Given the description of an element on the screen output the (x, y) to click on. 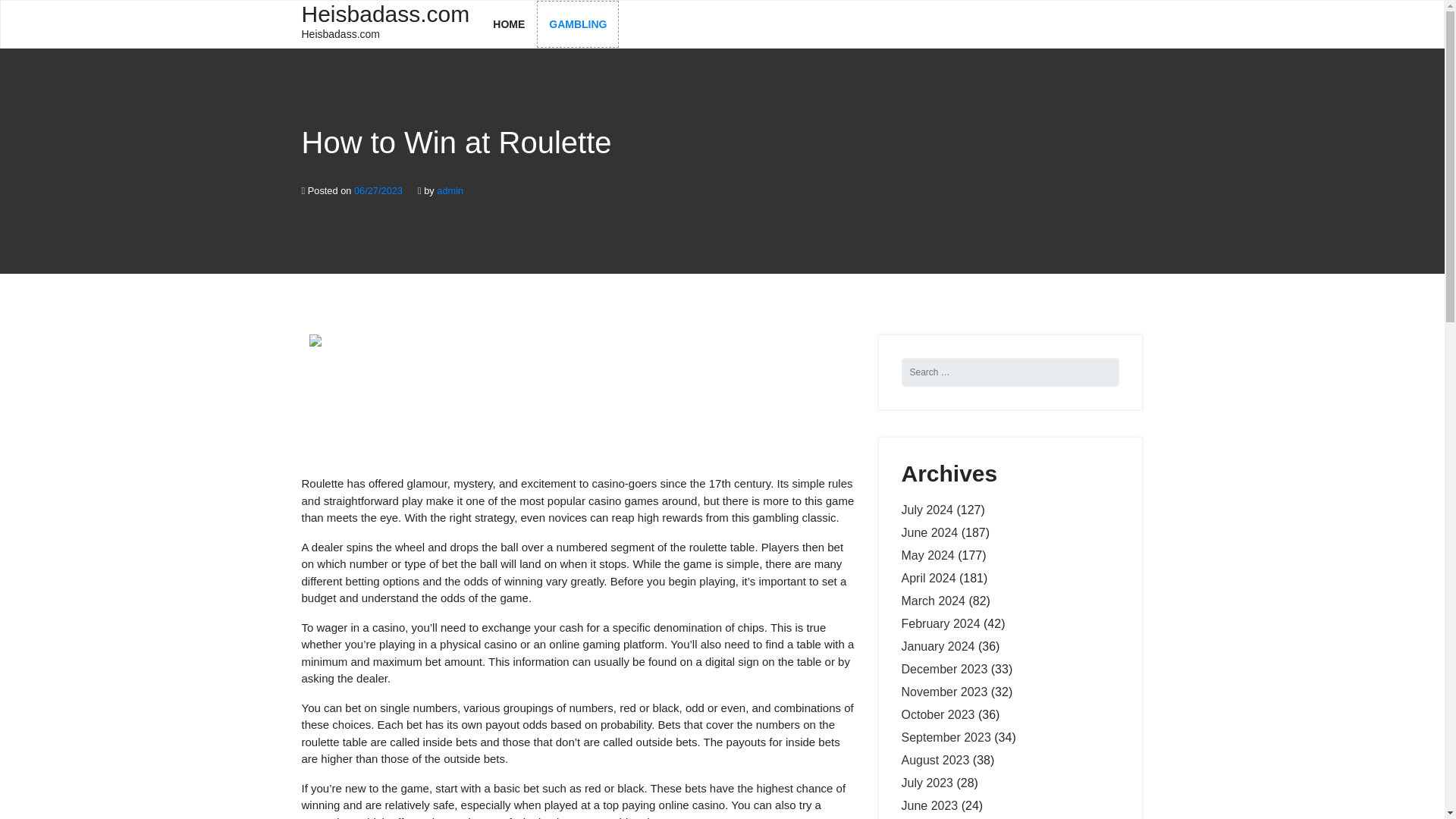
September 2023 (945, 737)
July 2024 (927, 509)
January 2024 (937, 645)
April 2024 (385, 22)
October 2023 (928, 577)
August 2023 (937, 714)
February 2024 (935, 759)
admin (940, 623)
November 2023 (449, 190)
May 2024 (944, 691)
June 2023 (927, 554)
Gambling (929, 805)
December 2023 (577, 23)
HOME (944, 668)
